Given the description of an element on the screen output the (x, y) to click on. 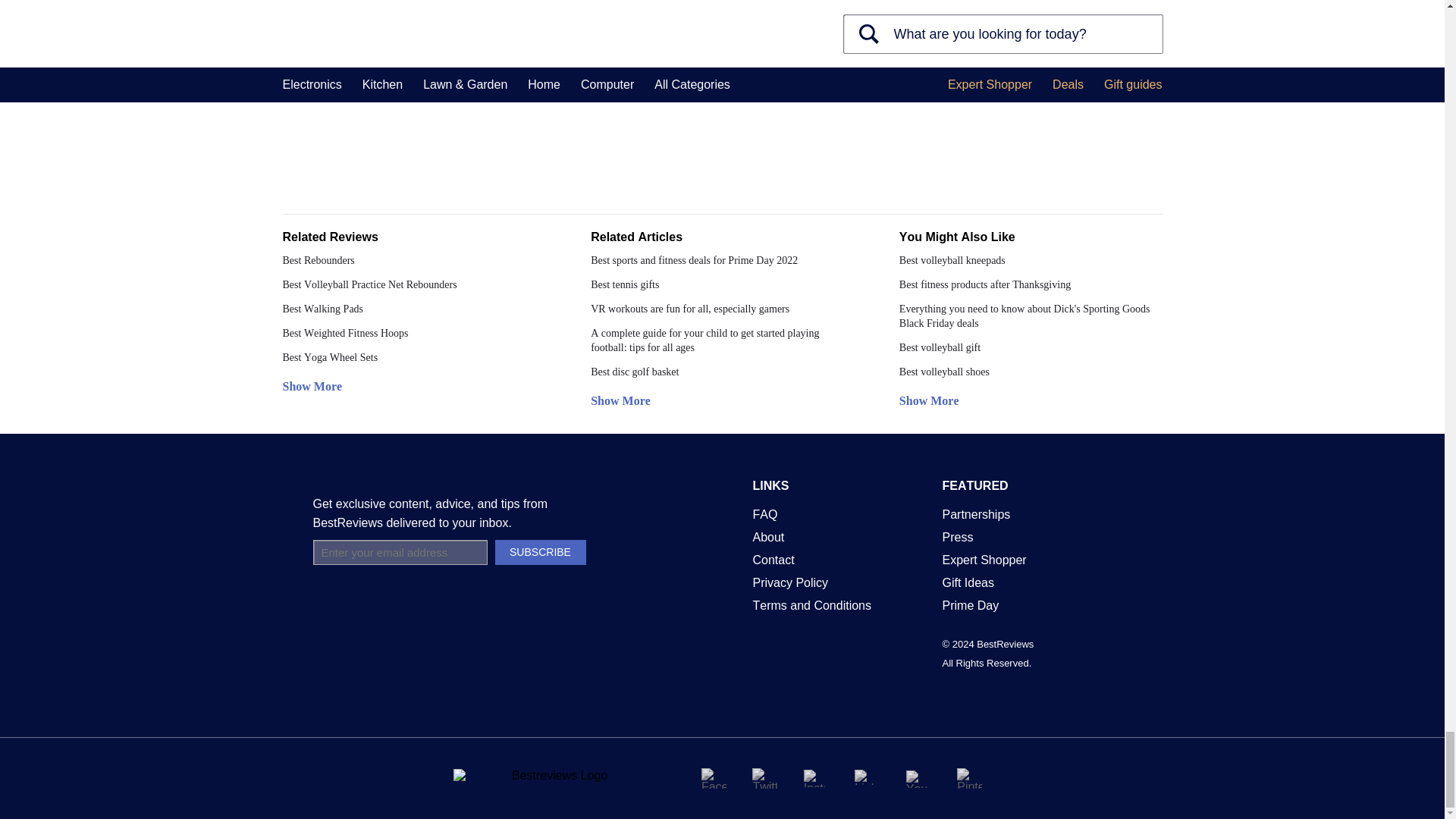
Frequently asked questions (764, 513)
Subscribe email (399, 552)
Contact Us (772, 559)
